Given the description of an element on the screen output the (x, y) to click on. 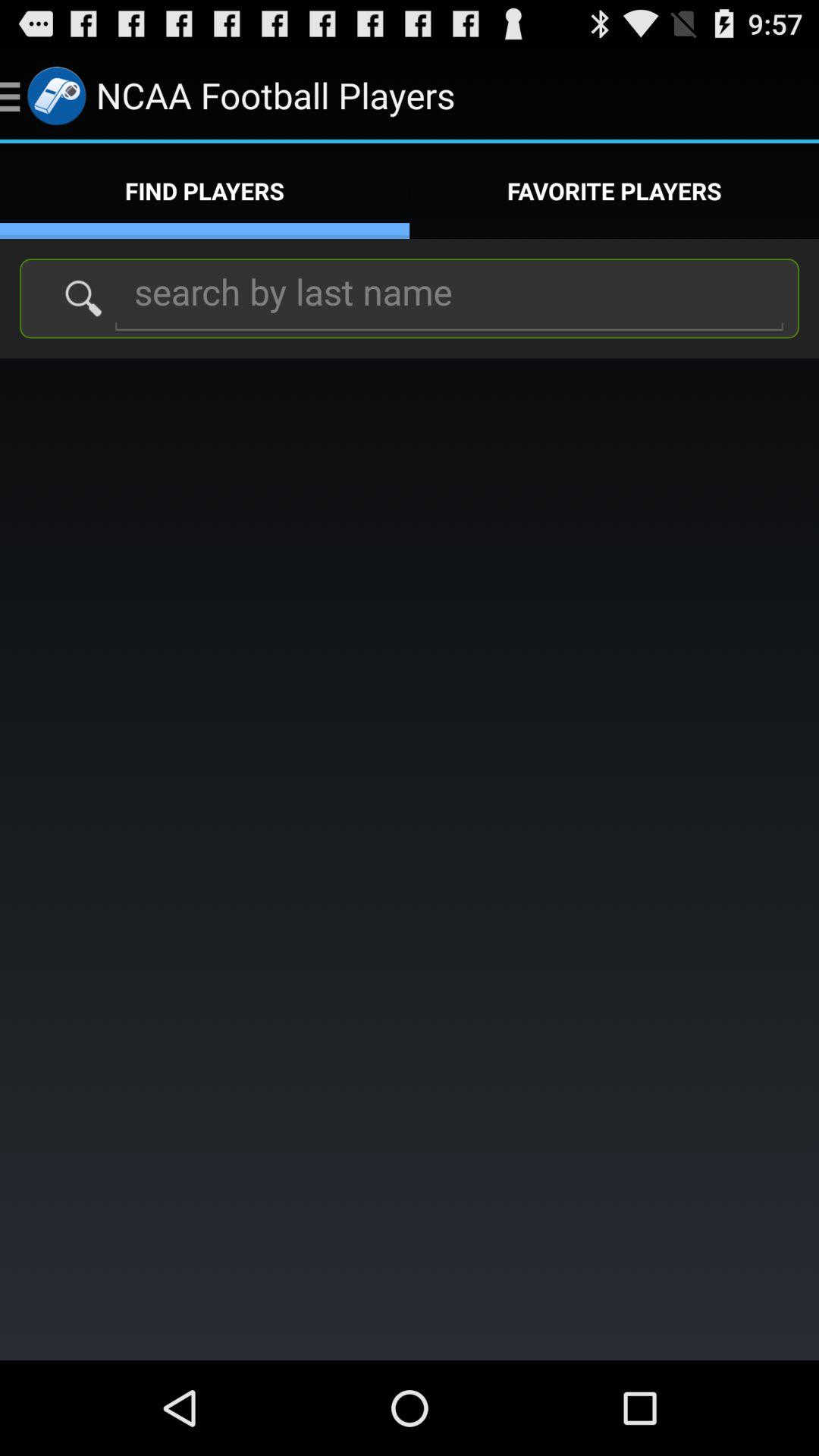
launch item at the center (409, 859)
